Given the description of an element on the screen output the (x, y) to click on. 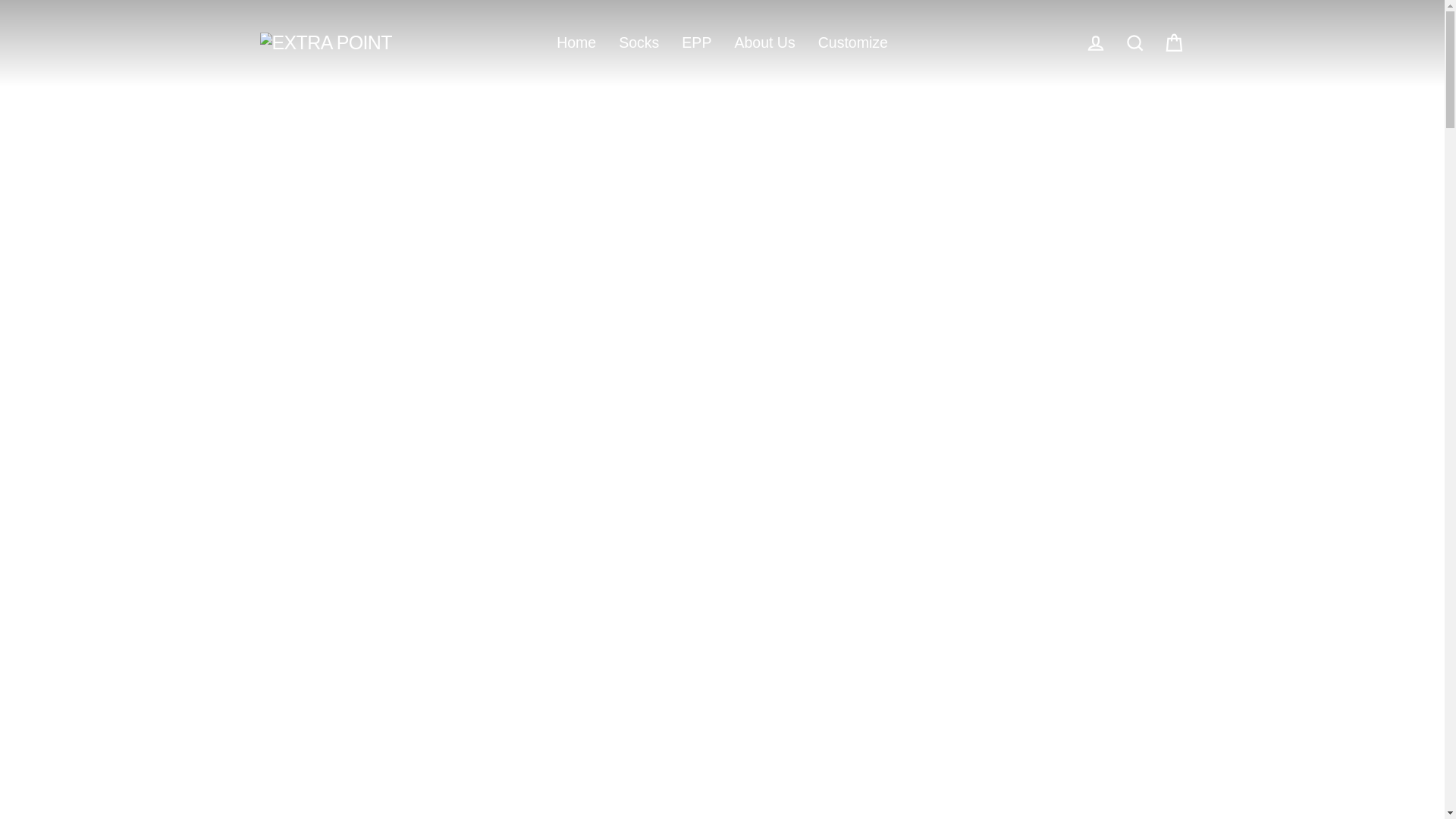
Log in (1095, 43)
EPP (695, 42)
About Us (764, 42)
Search (1134, 43)
Home (575, 42)
Socks (638, 42)
Customize (852, 42)
